Given the description of an element on the screen output the (x, y) to click on. 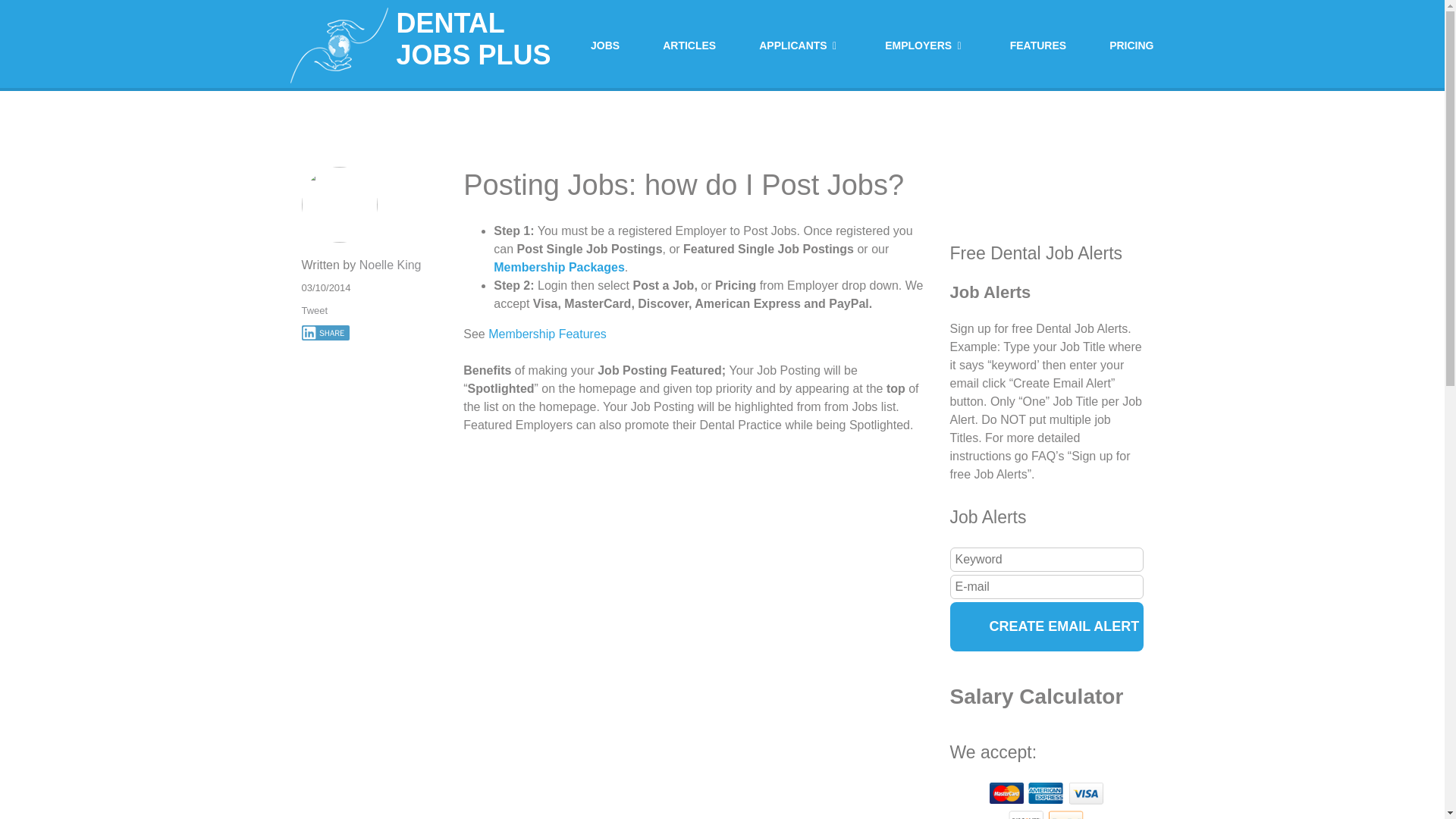
SHARE (325, 332)
Tweet (371, 310)
Create Email Alert (1045, 626)
FEATURES (1037, 44)
Membership Packages (558, 267)
PRICING (1131, 44)
ARTICLES (689, 44)
Membership Features (547, 333)
APPLICANTS (799, 44)
EMPLOYERS (925, 44)
JOBS (604, 44)
Noelle King (390, 264)
Create Email Alert (1045, 626)
Dental Jobs Plus (433, 45)
DENTAL JOBS PLUS (433, 45)
